Given the description of an element on the screen output the (x, y) to click on. 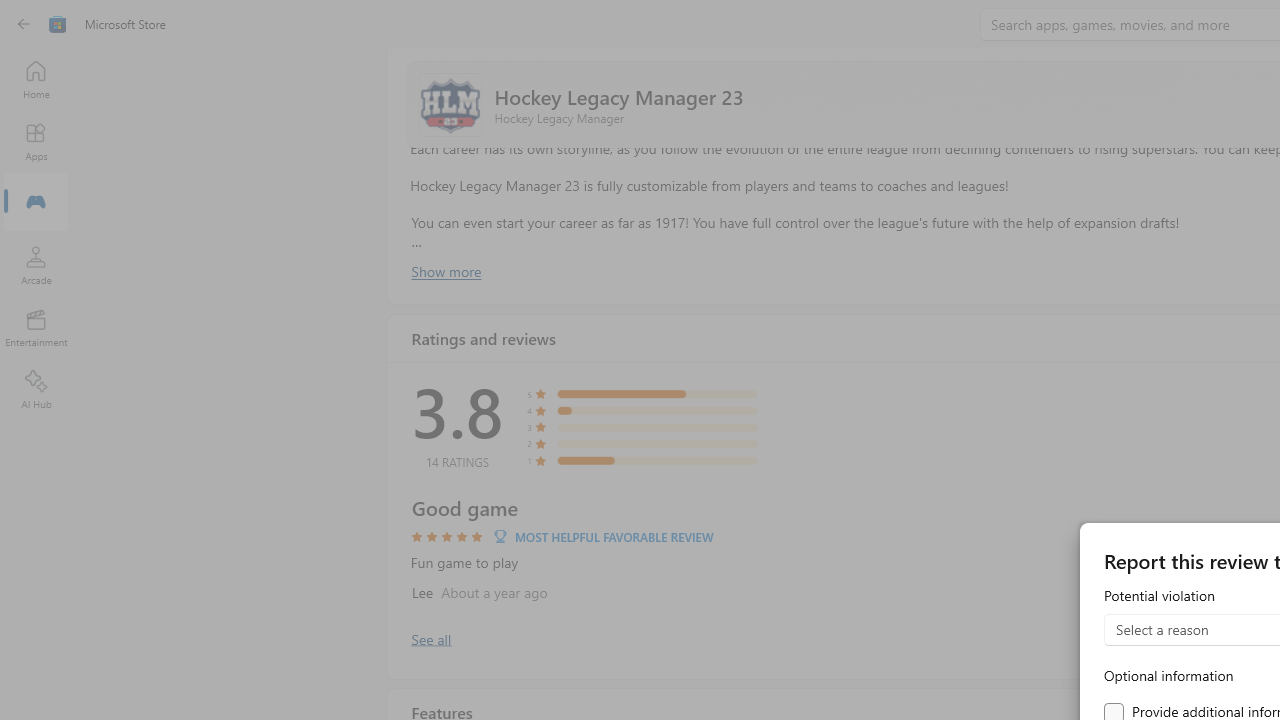
Show more (445, 271)
Show all ratings and reviews (430, 637)
Back (24, 24)
